Given the description of an element on the screen output the (x, y) to click on. 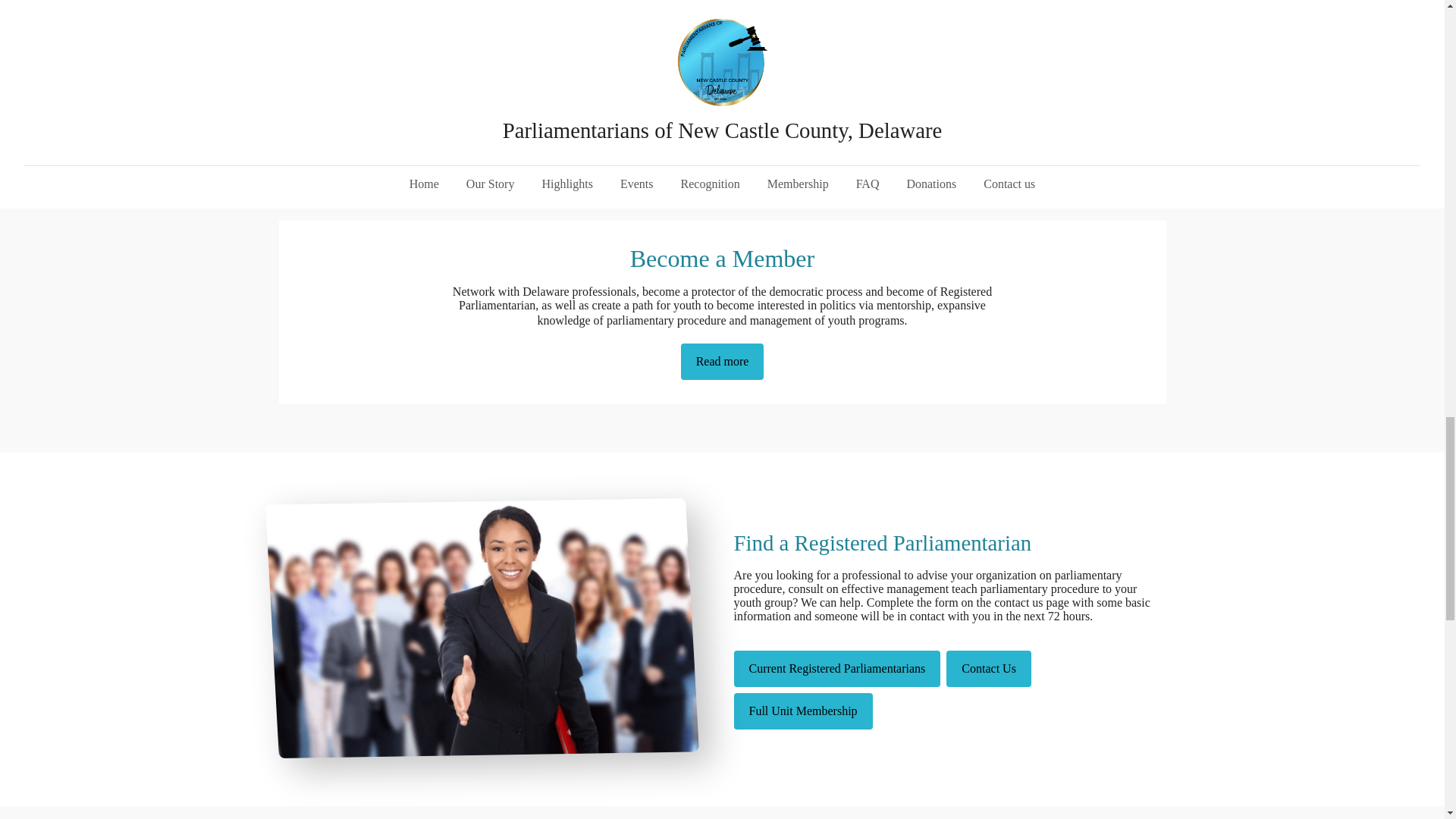
Read more (722, 361)
Full Unit Membership (802, 710)
Contact Us (988, 668)
Current Registered Parliamentarians (836, 668)
